Given the description of an element on the screen output the (x, y) to click on. 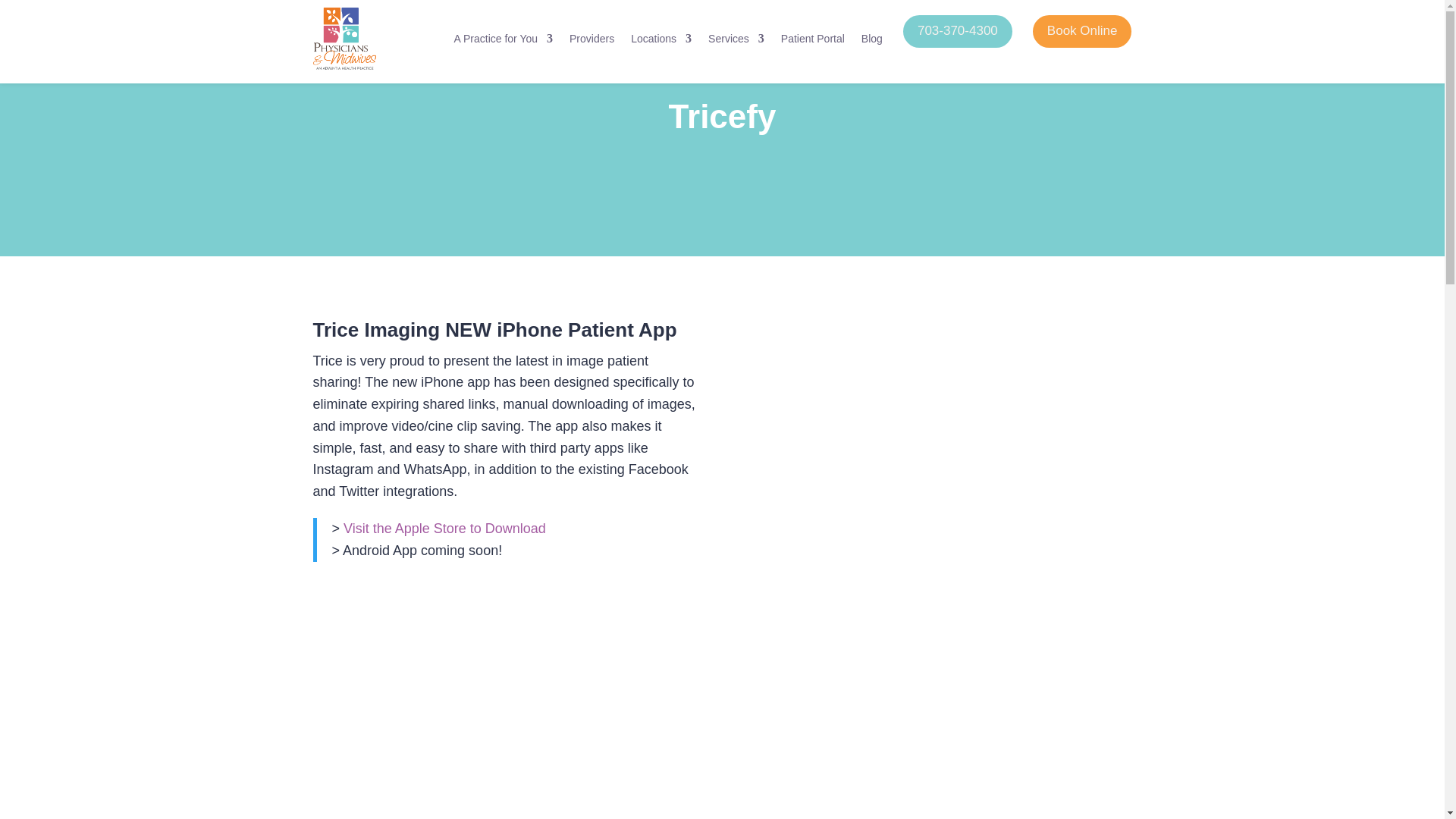
Services (735, 38)
Locations (660, 38)
Patient Portal (812, 38)
A Practice for You (502, 38)
